Given the description of an element on the screen output the (x, y) to click on. 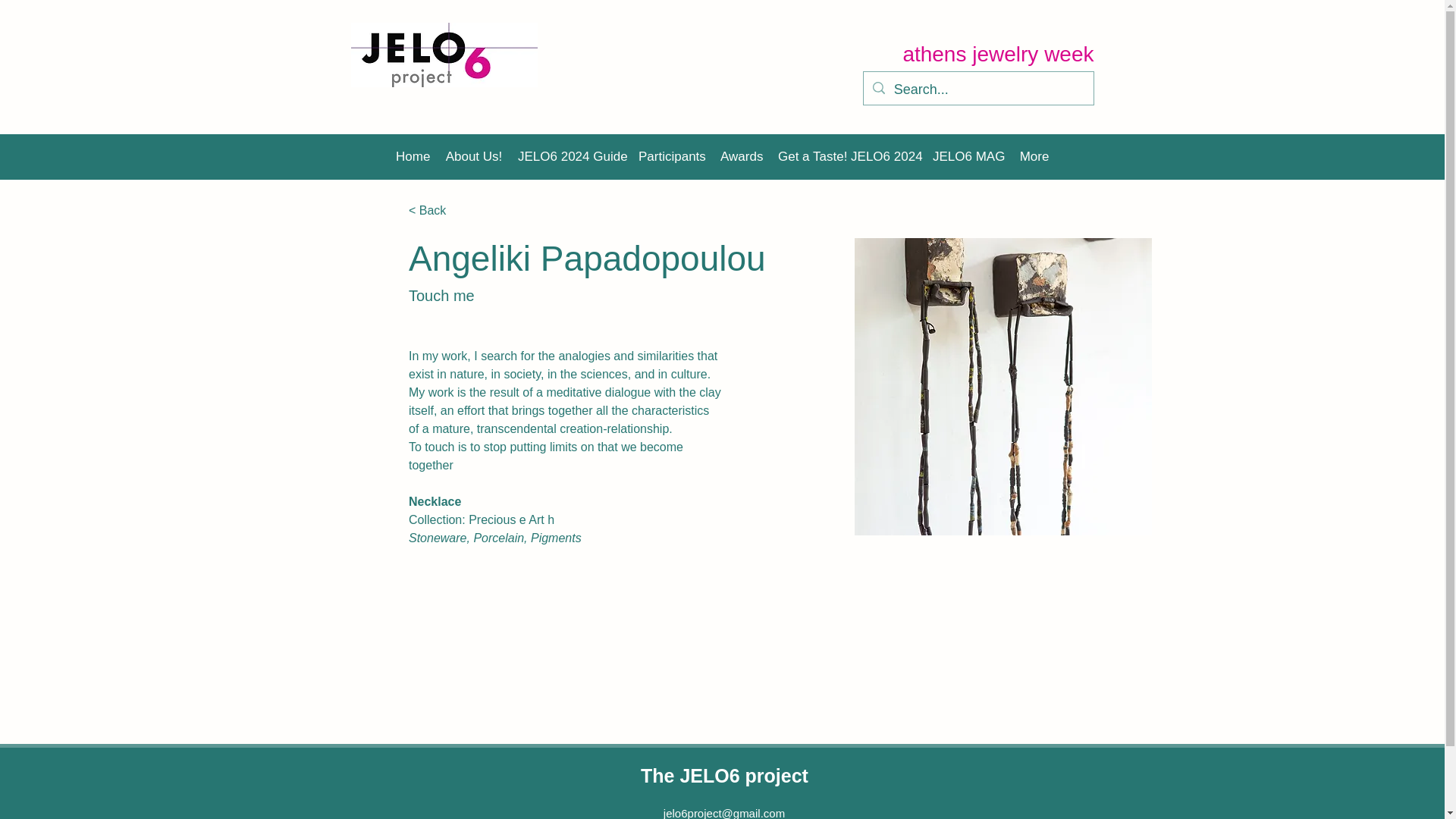
Awards (741, 156)
Home (413, 156)
Angeliki Papadopoulou.jpg (1002, 386)
Participants (671, 156)
Get a Taste! JELO6 2024 (847, 156)
JELO6 2024 Guide (570, 156)
TopLogo 1.jpg (443, 54)
JELO6 MAG (967, 156)
About Us! (474, 156)
